Given the description of an element on the screen output the (x, y) to click on. 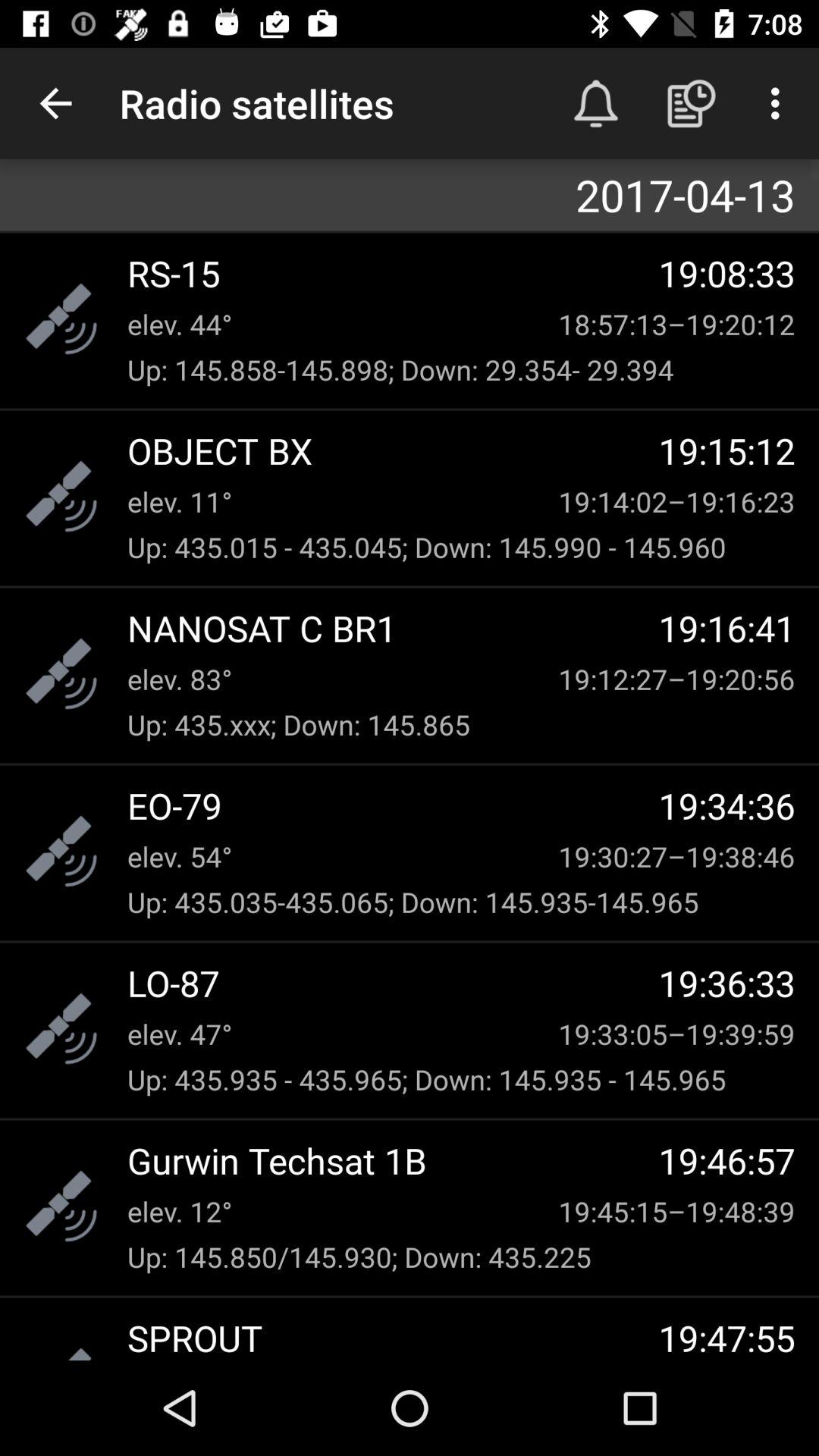
turn off sprout icon (392, 1336)
